Given the description of an element on the screen output the (x, y) to click on. 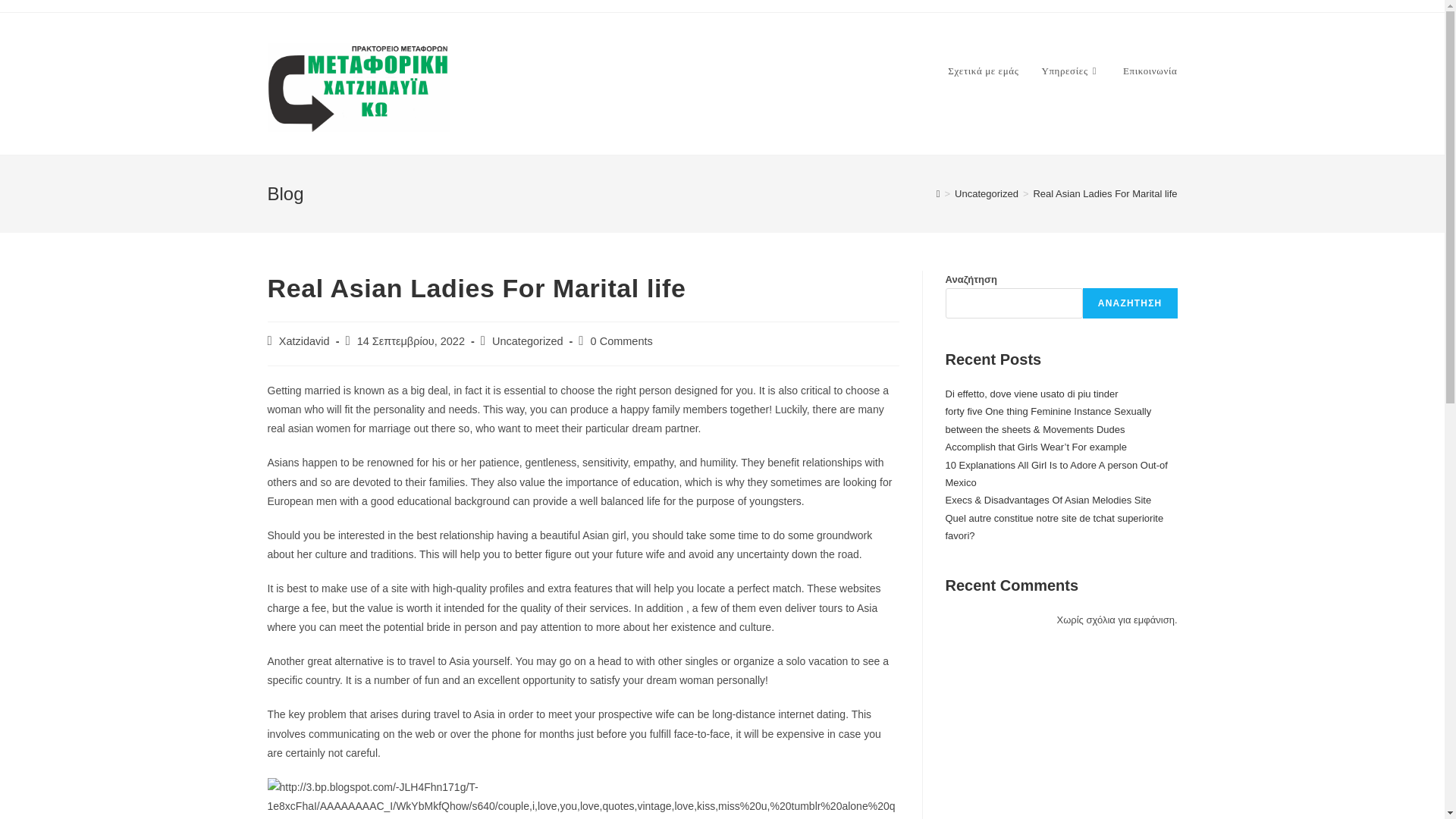
Quel autre constitue notre site de tchat superiorite favori? (1053, 526)
10 Explanations All Girl Is to Adore A person Out-of Mexico (1055, 473)
Real Asian Ladies For Marital life (1104, 193)
Uncategorized (986, 193)
Xatzidavid (304, 340)
0 Comments (621, 340)
Di effetto, dove viene usato di piu tinder (1031, 393)
Uncategorized (527, 340)
